Given the description of an element on the screen output the (x, y) to click on. 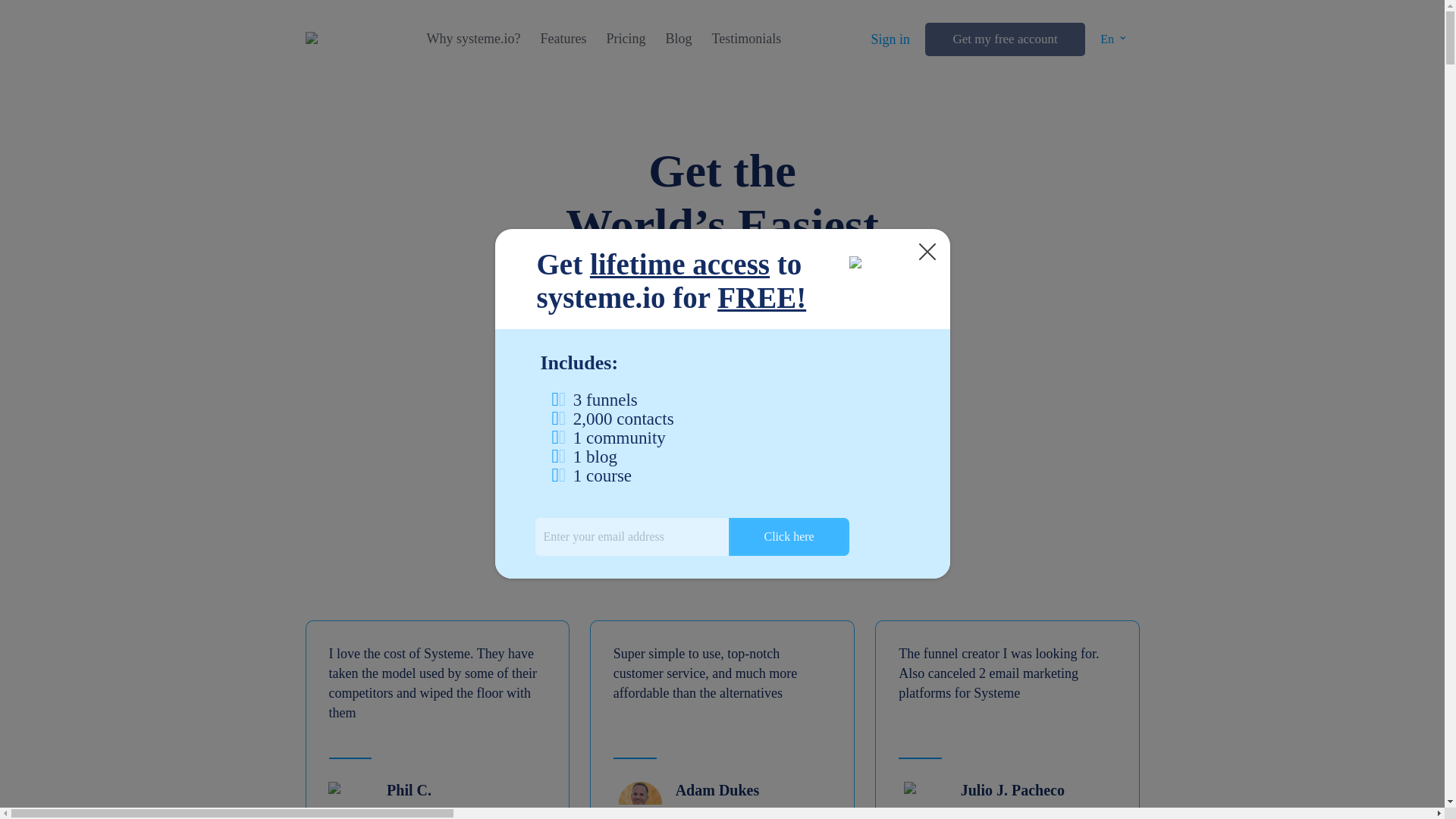
Blog (678, 38)
Get my free account (1004, 39)
Features (563, 38)
Why systeme.io? (472, 38)
Pricing (625, 38)
Testimonials (745, 38)
Sign in (890, 39)
